Given the description of an element on the screen output the (x, y) to click on. 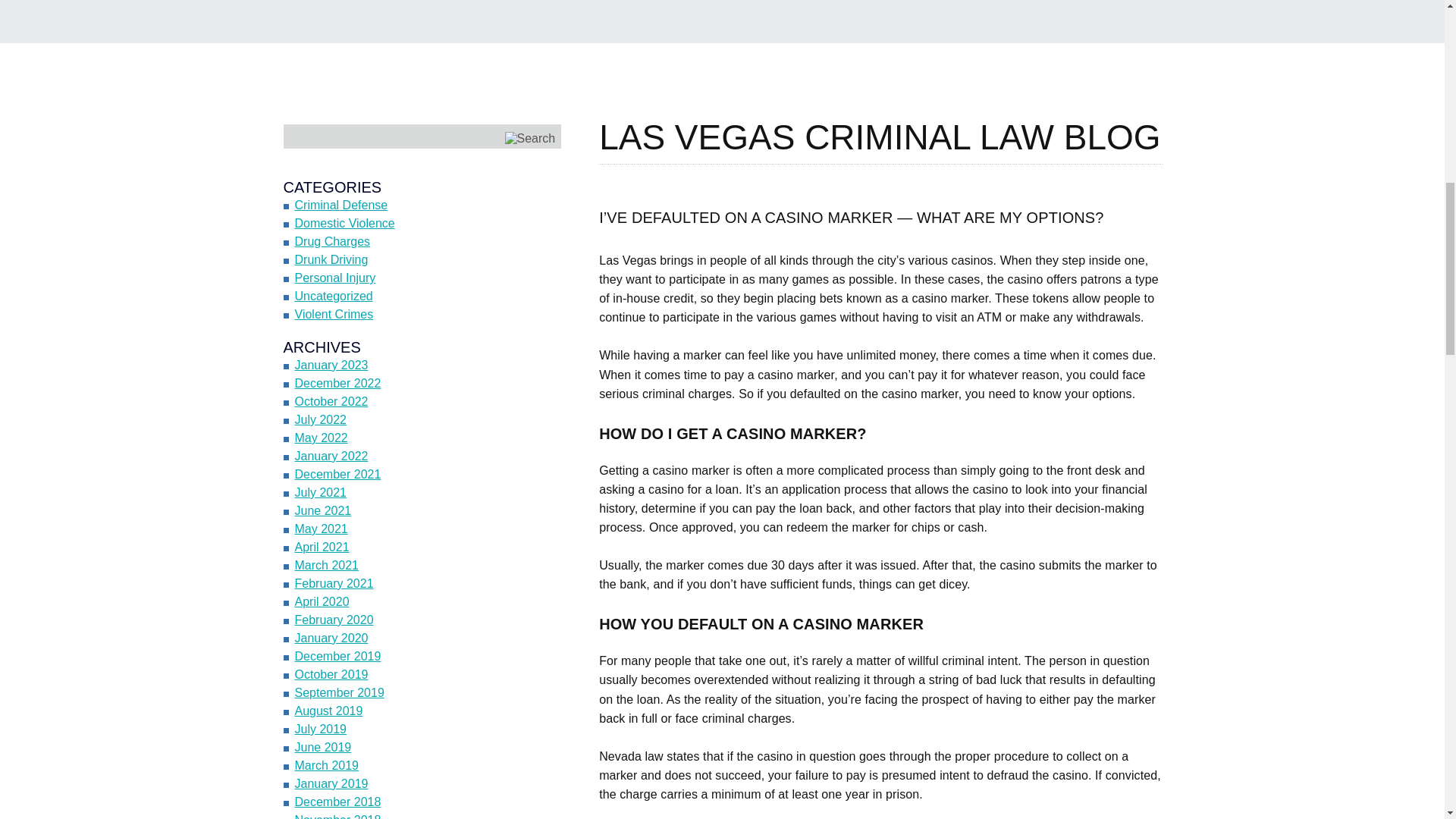
Search (530, 138)
Search (530, 138)
